Given the description of an element on the screen output the (x, y) to click on. 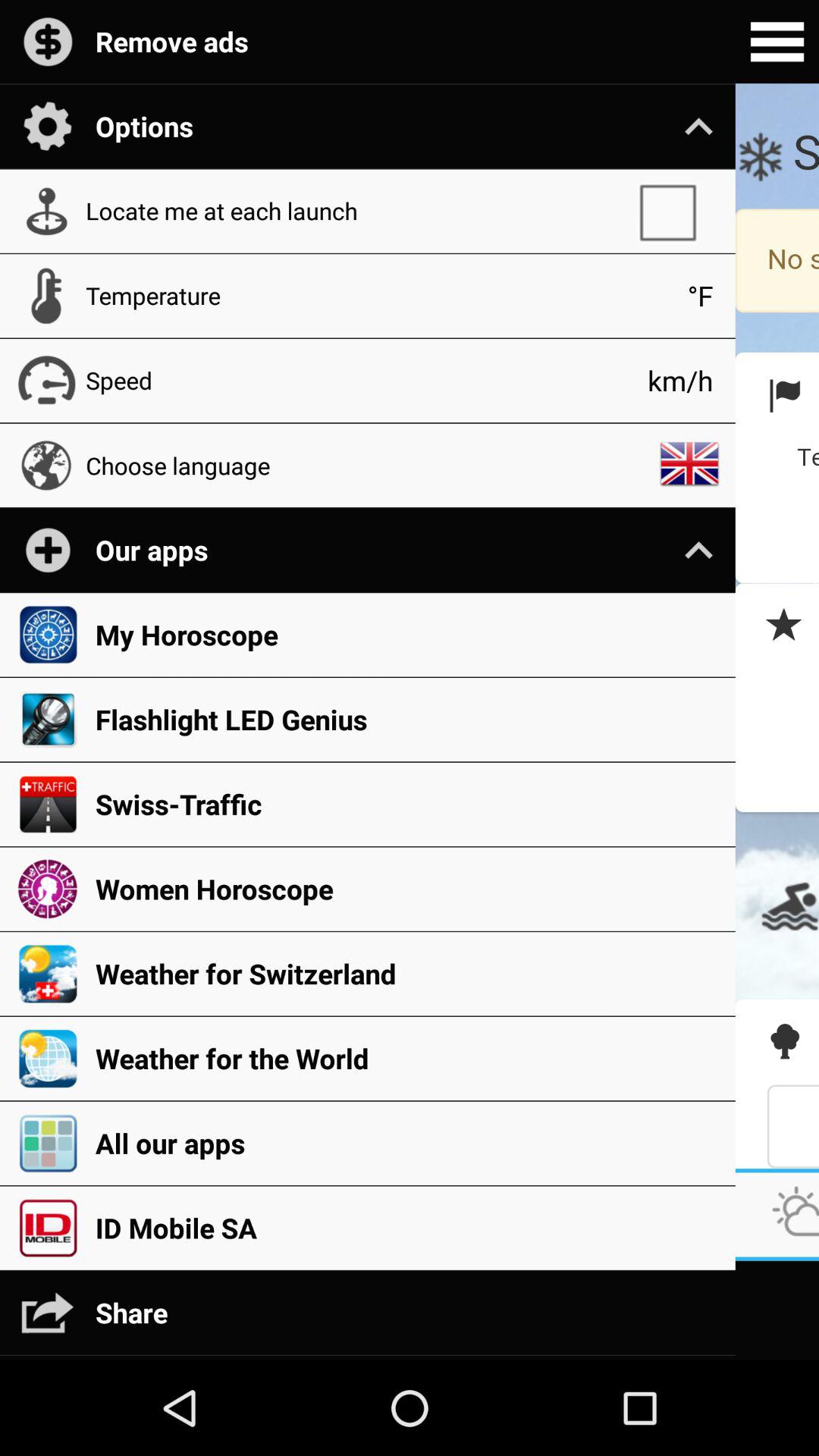
more options (777, 41)
